Given the description of an element on the screen output the (x, y) to click on. 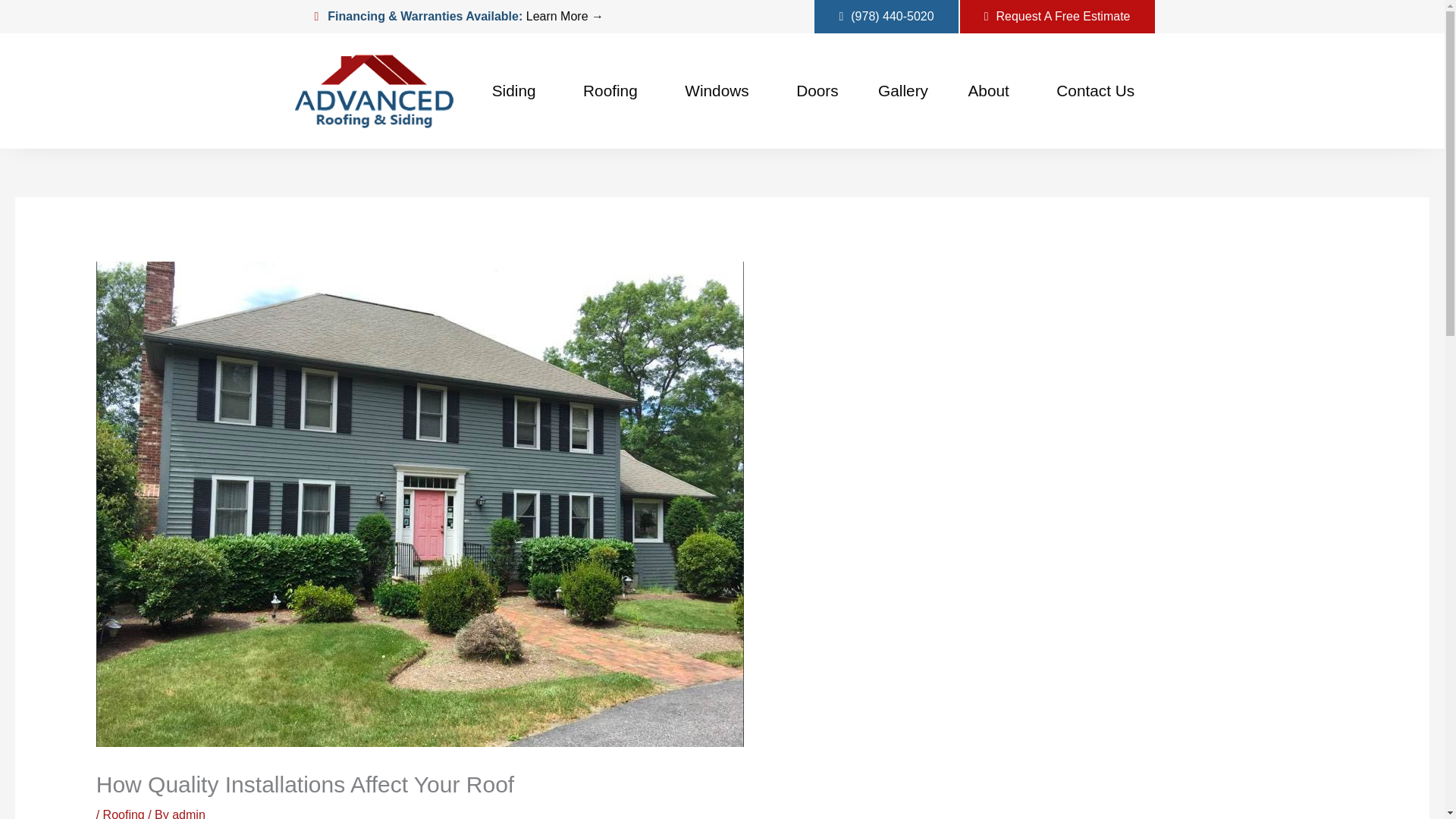
Siding (516, 90)
Roofing (614, 90)
View all posts by admin (188, 813)
Contact Us (1095, 90)
Windows (720, 90)
Doors (817, 90)
About (991, 90)
Gallery (903, 90)
Request A Free Estimate (1056, 16)
